Given the description of an element on the screen output the (x, y) to click on. 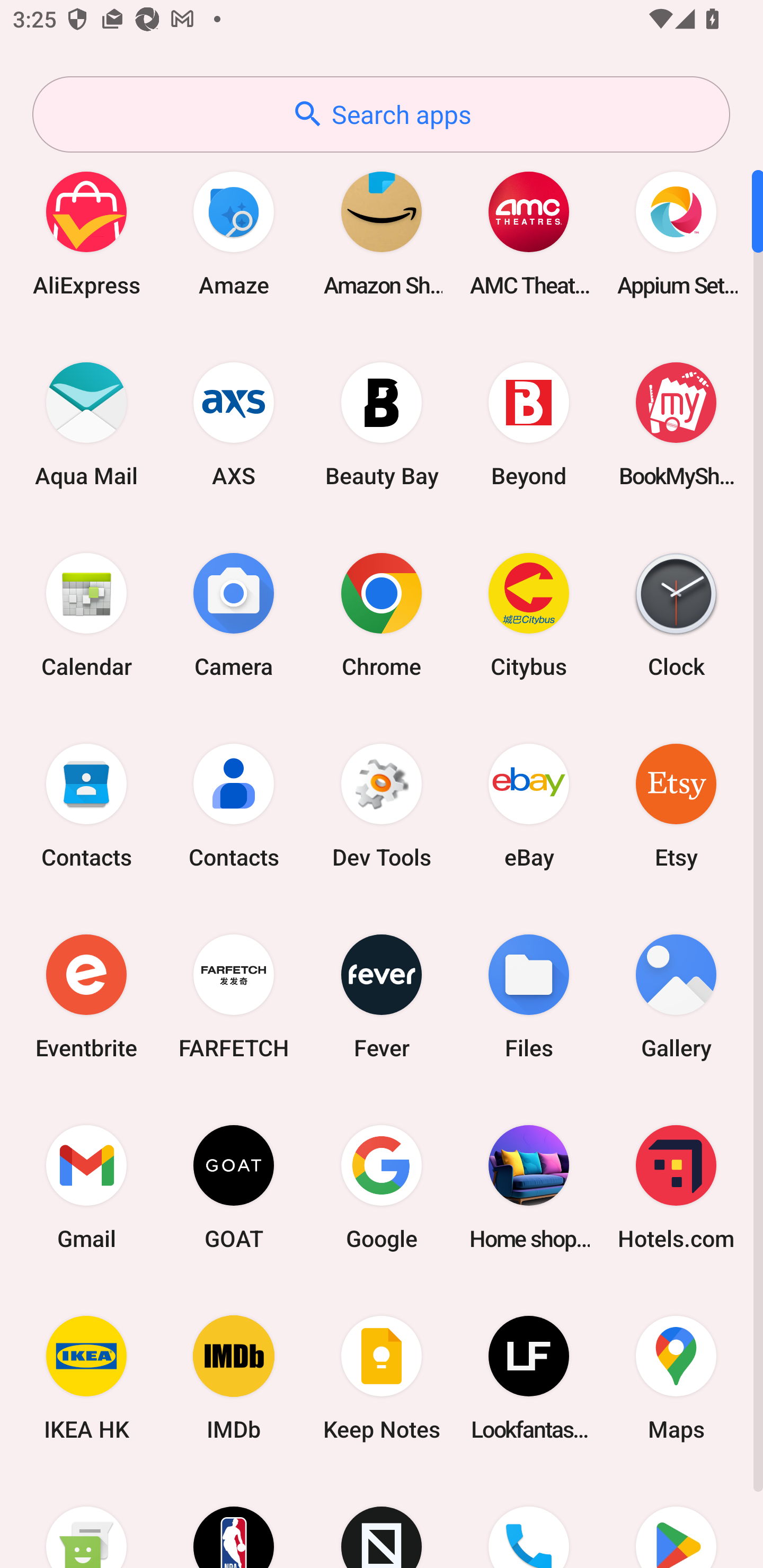
  Search apps (381, 114)
AliExpress (86, 233)
Amaze (233, 233)
Amazon Shopping (381, 233)
AMC Theatres (528, 233)
Appium Settings (676, 233)
Aqua Mail (86, 424)
AXS (233, 424)
Beauty Bay (381, 424)
Beyond (528, 424)
BookMyShow (676, 424)
Calendar (86, 614)
Camera (233, 614)
Chrome (381, 614)
Citybus (528, 614)
Clock (676, 614)
Contacts (86, 805)
Contacts (233, 805)
Dev Tools (381, 805)
eBay (528, 805)
Etsy (676, 805)
Eventbrite (86, 996)
FARFETCH (233, 996)
Fever (381, 996)
Files (528, 996)
Gallery (676, 996)
Gmail (86, 1186)
GOAT (233, 1186)
Google (381, 1186)
Home shopping (528, 1186)
Hotels.com (676, 1186)
IKEA HK (86, 1377)
IMDb (233, 1377)
Keep Notes (381, 1377)
Lookfantastic (528, 1377)
Maps (676, 1377)
